Given the description of an element on the screen output the (x, y) to click on. 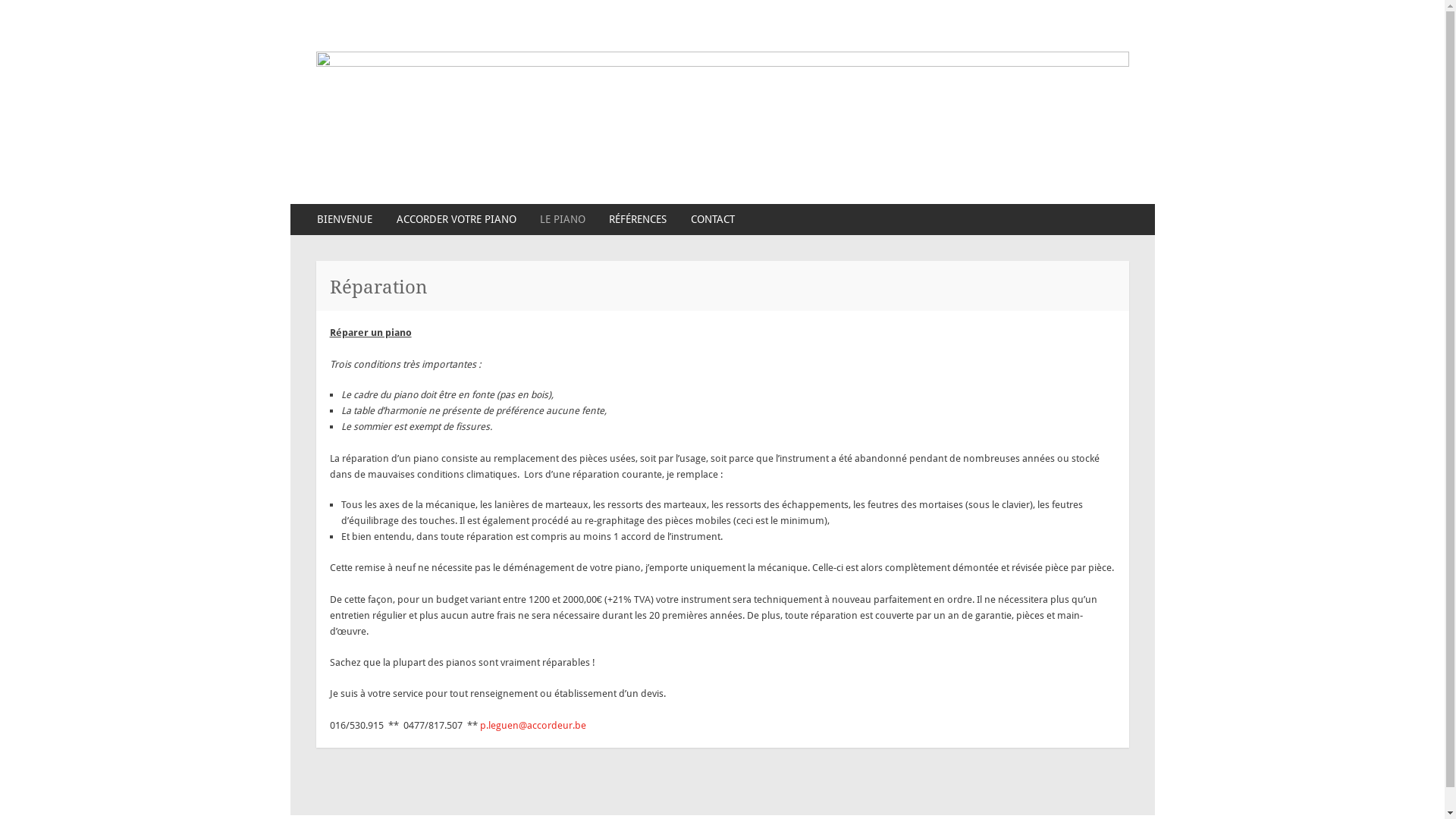
SKIP TO CONTENT Element type: text (358, 211)
p.leguen@accordeur.be Element type: text (533, 725)
Accordeur Le Guen Element type: hover (721, 62)
Accordeur Le Guen Element type: text (455, 214)
ACCORDER VOTRE PIANO Element type: text (456, 218)
CONTACT Element type: text (712, 218)
BIENVENUE Element type: text (344, 218)
LE PIANO Element type: text (562, 218)
